Given the description of an element on the screen output the (x, y) to click on. 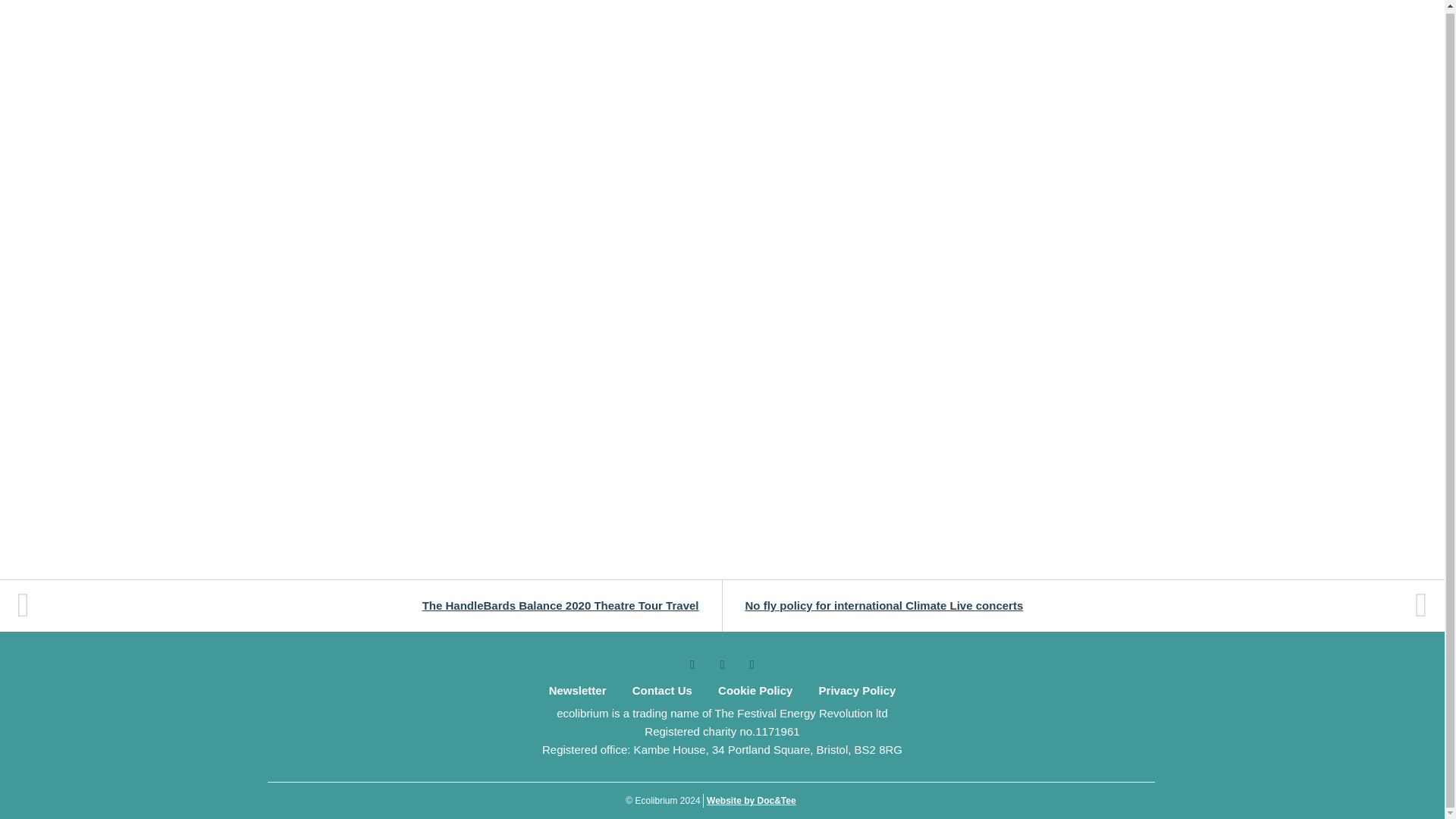
Privacy Policy (857, 690)
The HandleBards Balance 2020 Theatre Tour Travel (368, 605)
Contact Us (662, 690)
No fly policy for international Climate Live concerts (1074, 605)
Cookie Policy (754, 690)
Newsletter (577, 690)
